Given the description of an element on the screen output the (x, y) to click on. 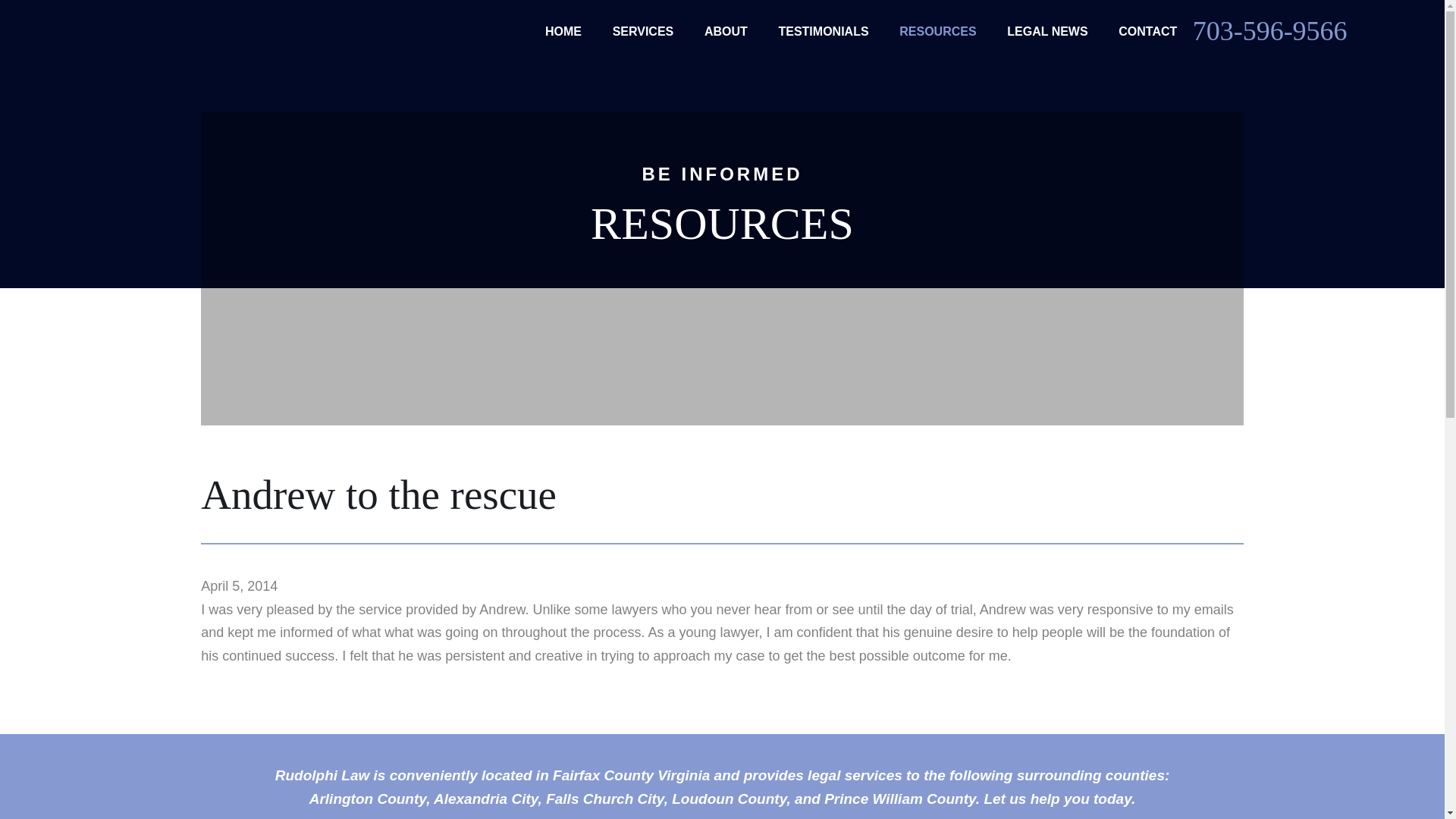
TESTIMONIALS (822, 31)
RESOURCES (937, 31)
ABOUT (726, 31)
HOME (562, 31)
SERVICES (643, 31)
LEGAL NEWS (1047, 31)
